Given the description of an element on the screen output the (x, y) to click on. 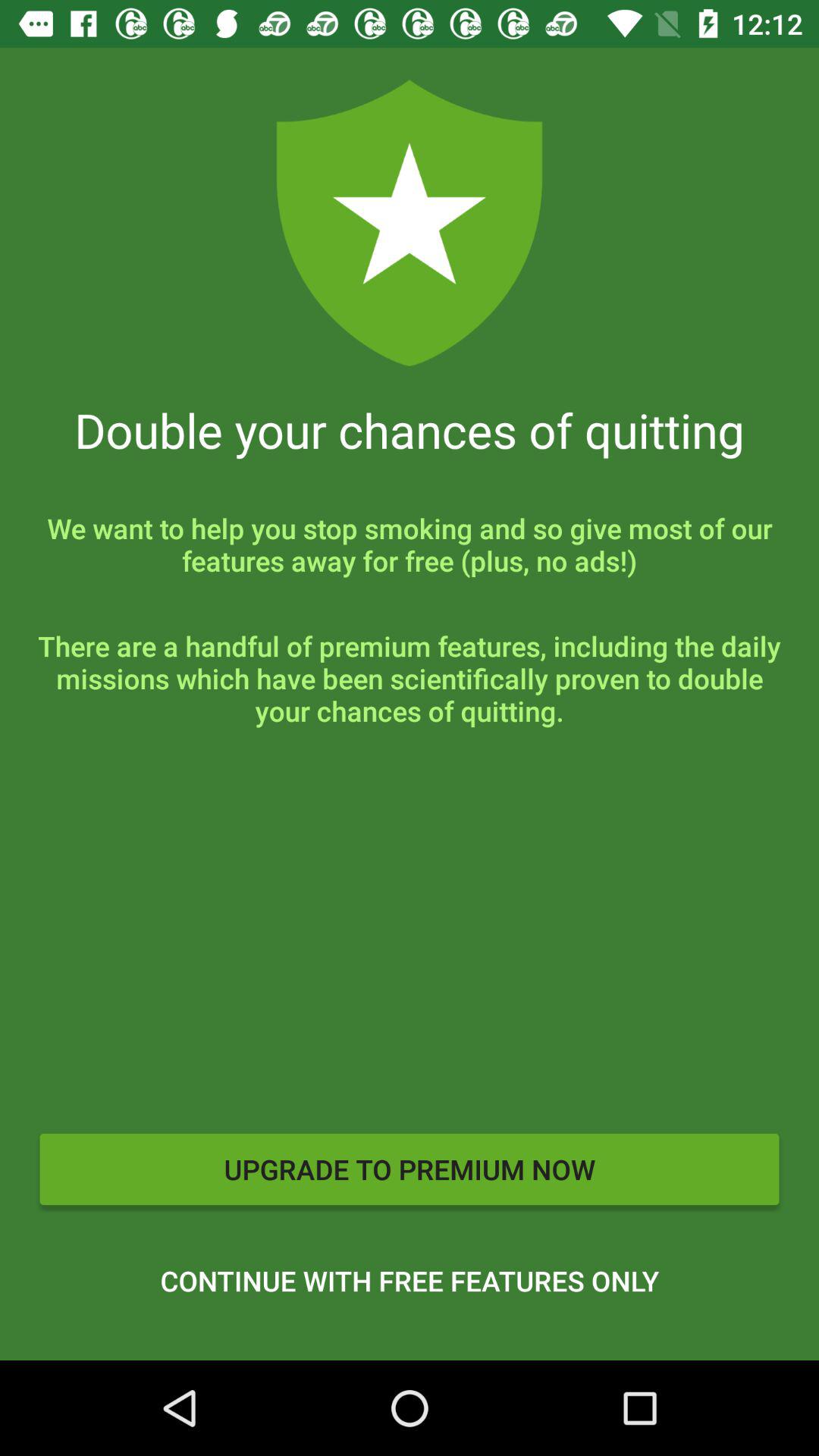
select the continue with free icon (409, 1280)
